Given the description of an element on the screen output the (x, y) to click on. 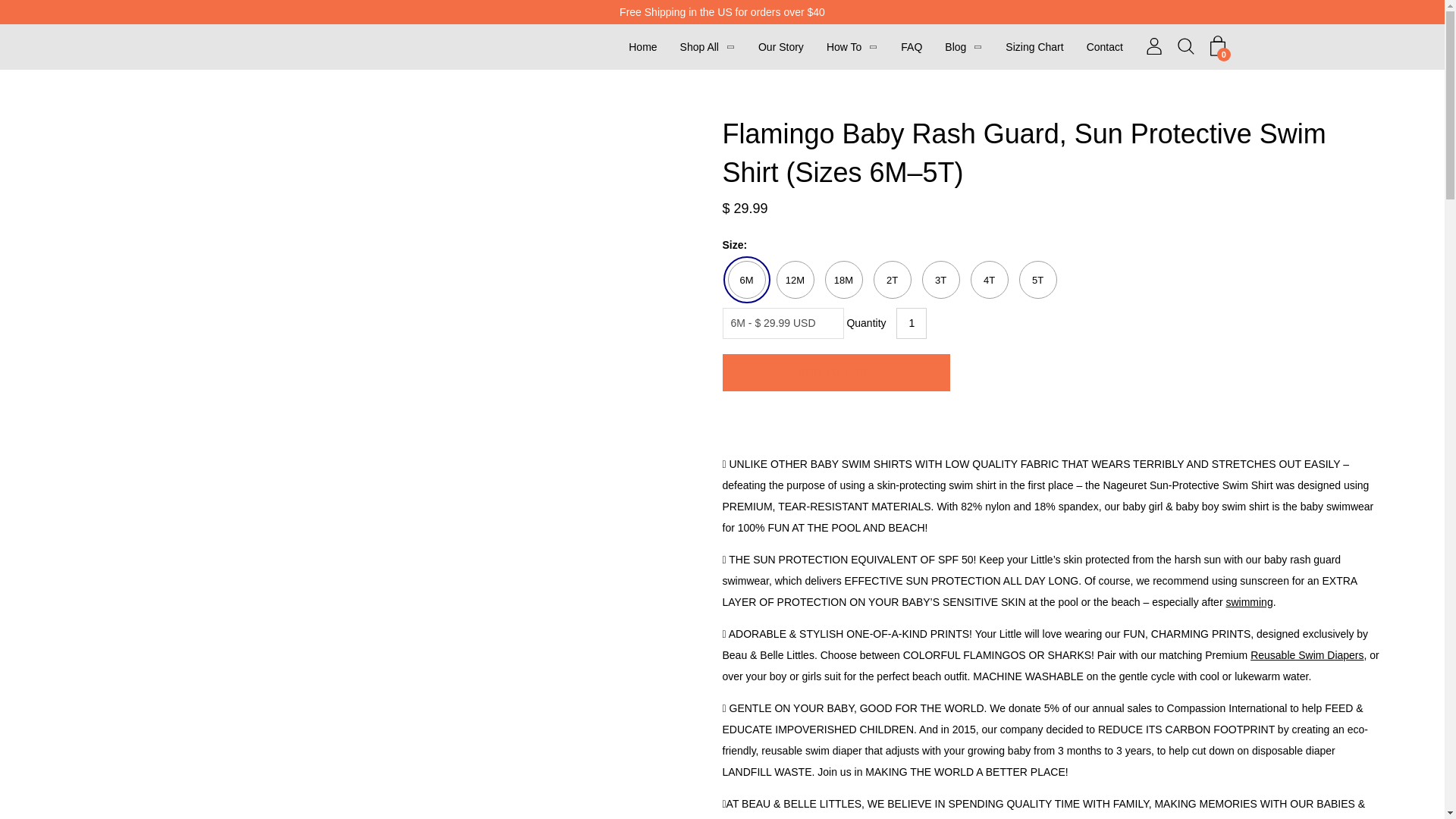
1 (911, 322)
6M (746, 279)
5T (1038, 279)
3T (940, 279)
2T (892, 279)
12M (794, 279)
4T (990, 279)
18M (844, 279)
